Given the description of an element on the screen output the (x, y) to click on. 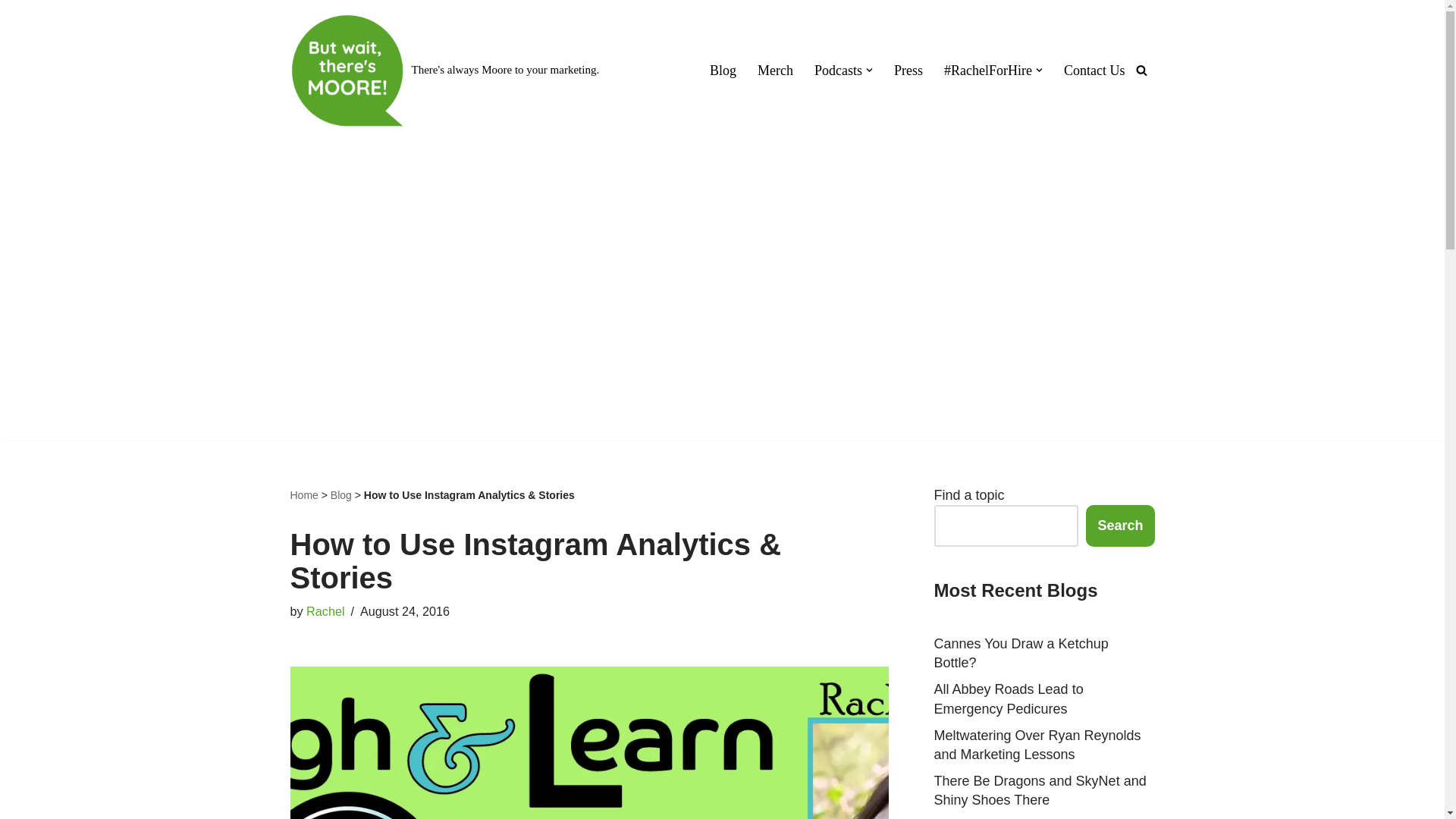
Podcasts (837, 69)
Home (303, 494)
Blog (723, 69)
Merch (775, 69)
There's always Moore to your marketing. (443, 70)
Contact Us (1094, 69)
Posts by Rachel (324, 611)
Press (908, 69)
Skip to content (11, 31)
